Given the description of an element on the screen output the (x, y) to click on. 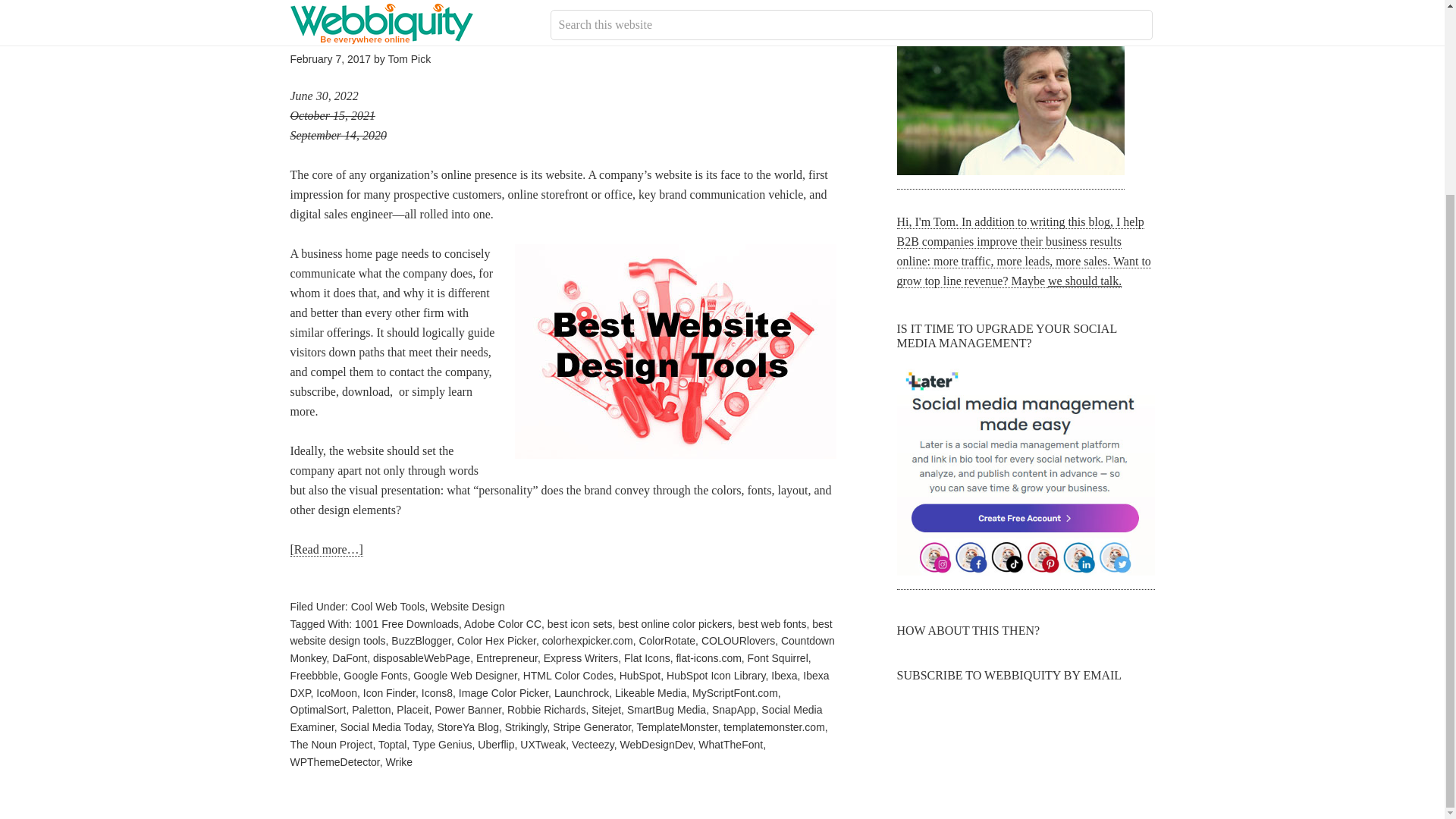
BuzzBlogger (421, 640)
DaFont (348, 657)
Color Hex Picker (496, 640)
Website Design (467, 606)
The 28 Best Web Design Tools (430, 27)
Cool Web Tools (387, 606)
Font Squirrel (778, 657)
best website design tools (560, 632)
1001 Free Downloads (406, 623)
Google Fonts (375, 675)
